Given the description of an element on the screen output the (x, y) to click on. 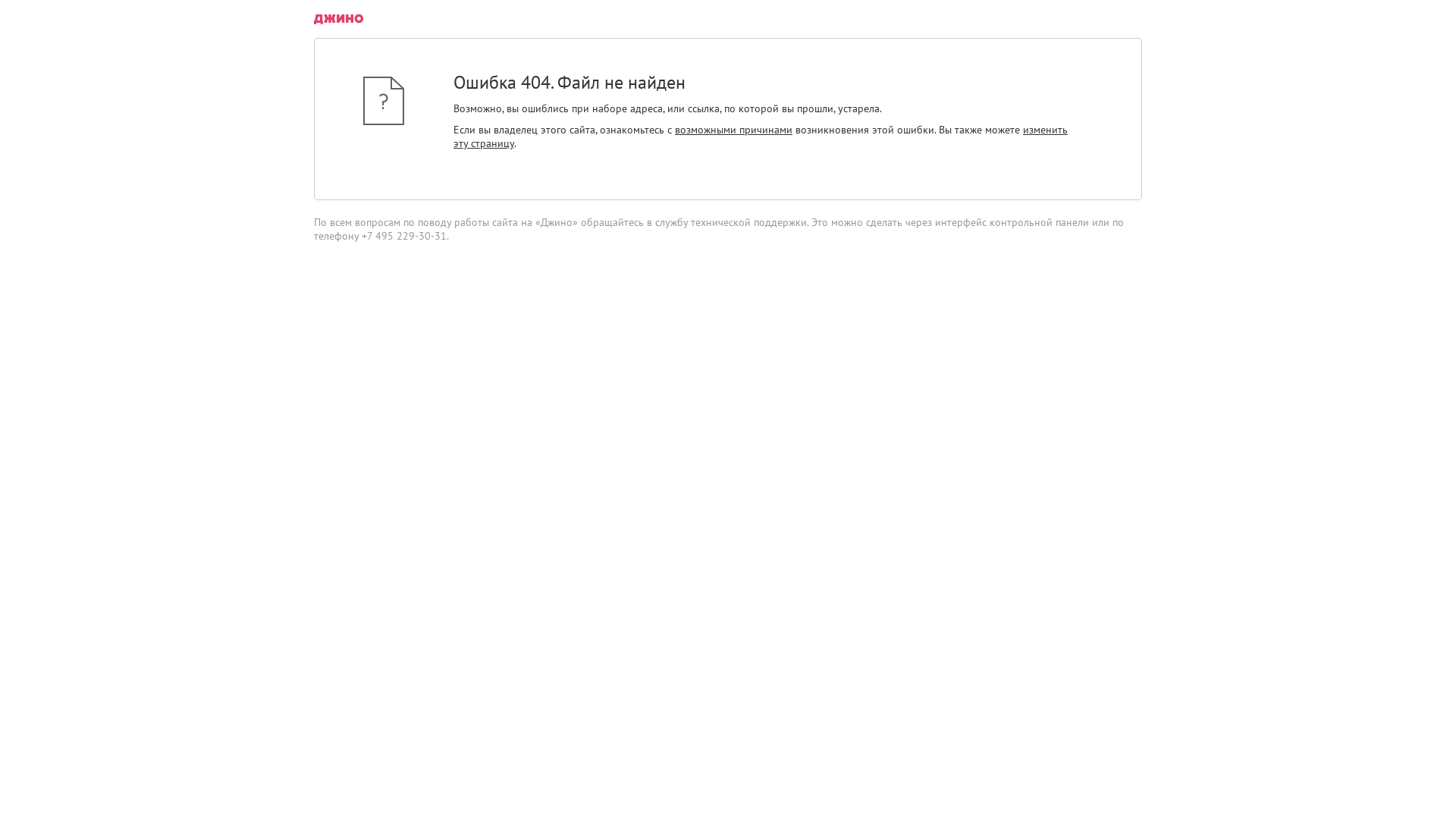
+7 495 229-30-31 Element type: text (403, 235)
